Given the description of an element on the screen output the (x, y) to click on. 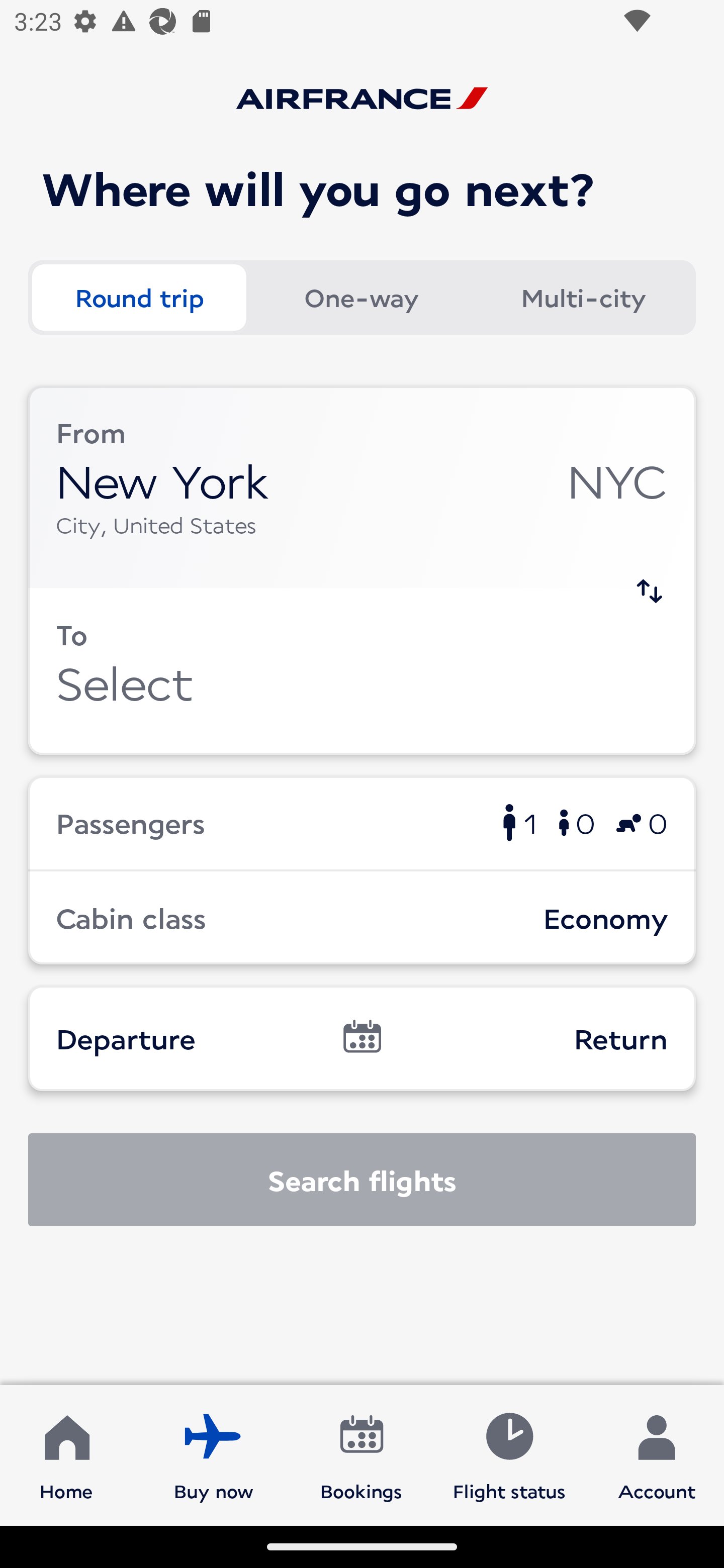
Round trip (139, 297)
One-way (361, 297)
Multi-city (583, 297)
From New York NYC City, United States (361, 486)
To Select (361, 671)
Passengers 1 0 0 (361, 822)
Cabin class Economy (361, 917)
Departure Return (361, 1038)
Search flights (361, 1179)
Home (66, 1454)
Bookings (361, 1454)
Flight status (509, 1454)
Account (657, 1454)
